Given the description of an element on the screen output the (x, y) to click on. 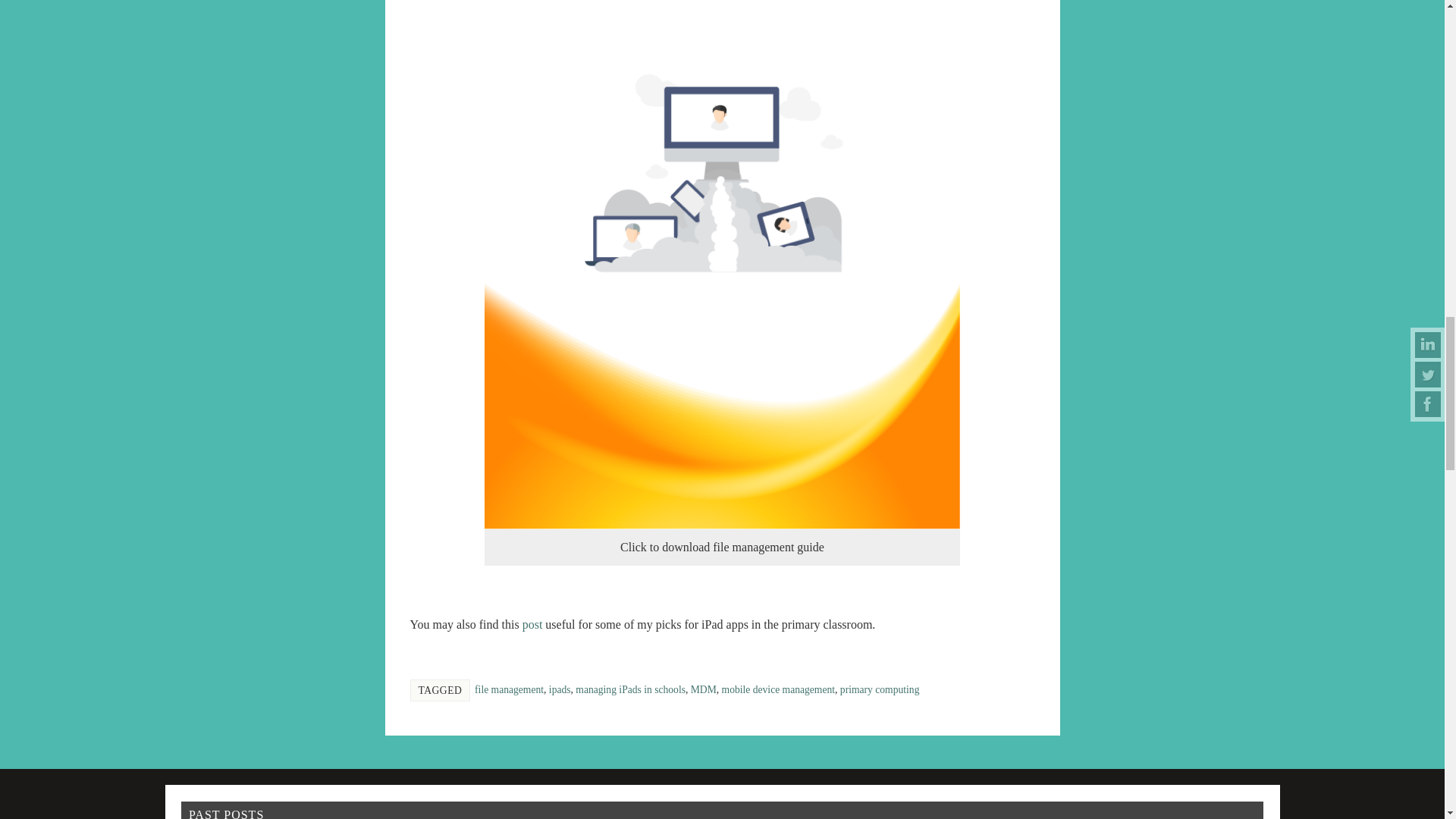
ipads (559, 689)
MDM (703, 689)
mobile device management (778, 689)
file management (508, 689)
iPad apps in the classroom (532, 624)
primary computing (880, 689)
managing iPads in schools (630, 689)
post (532, 624)
